Given the description of an element on the screen output the (x, y) to click on. 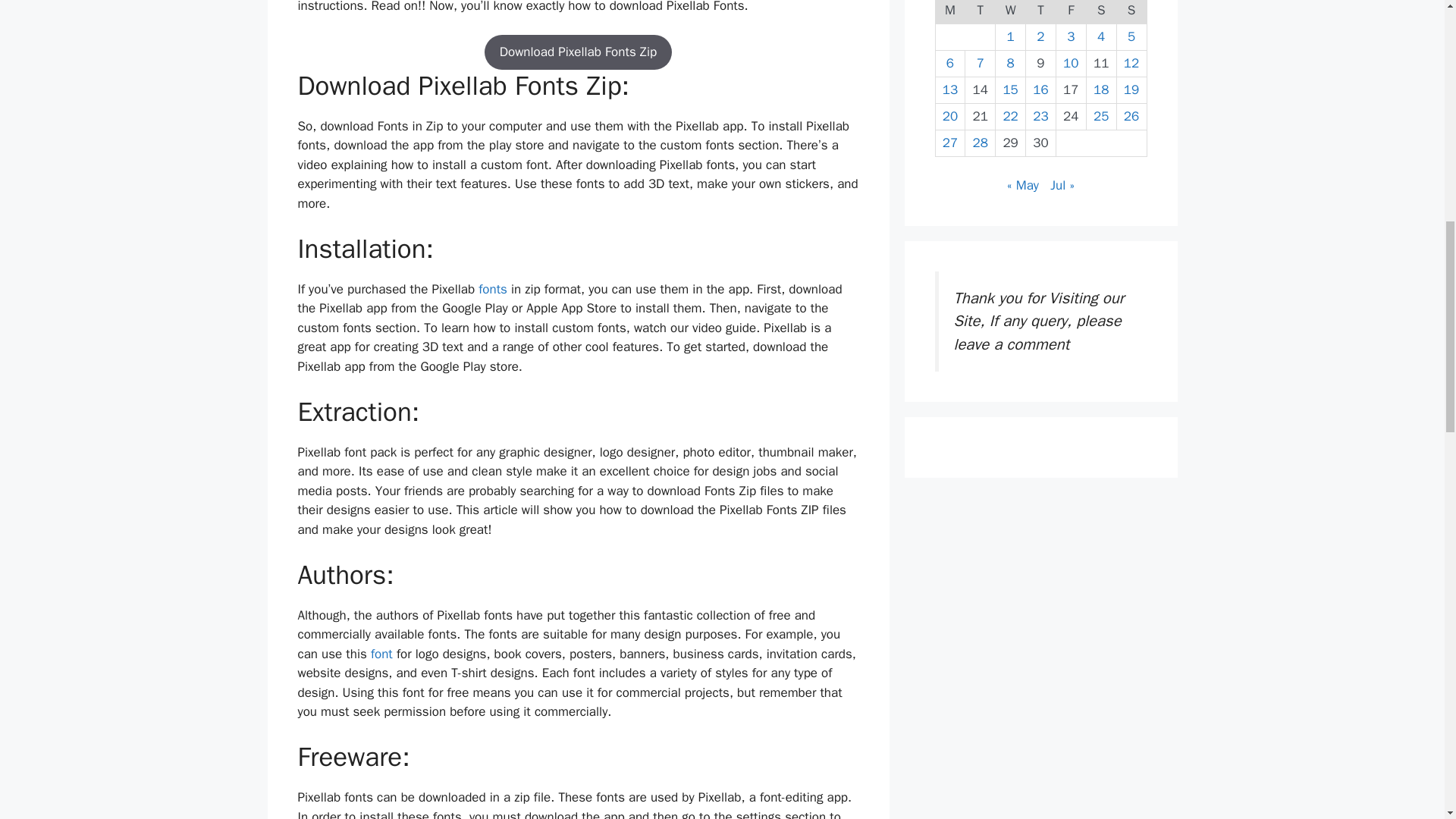
fonts (492, 289)
font (382, 653)
Download Pixellab Fonts Zip (577, 52)
